Given the description of an element on the screen output the (x, y) to click on. 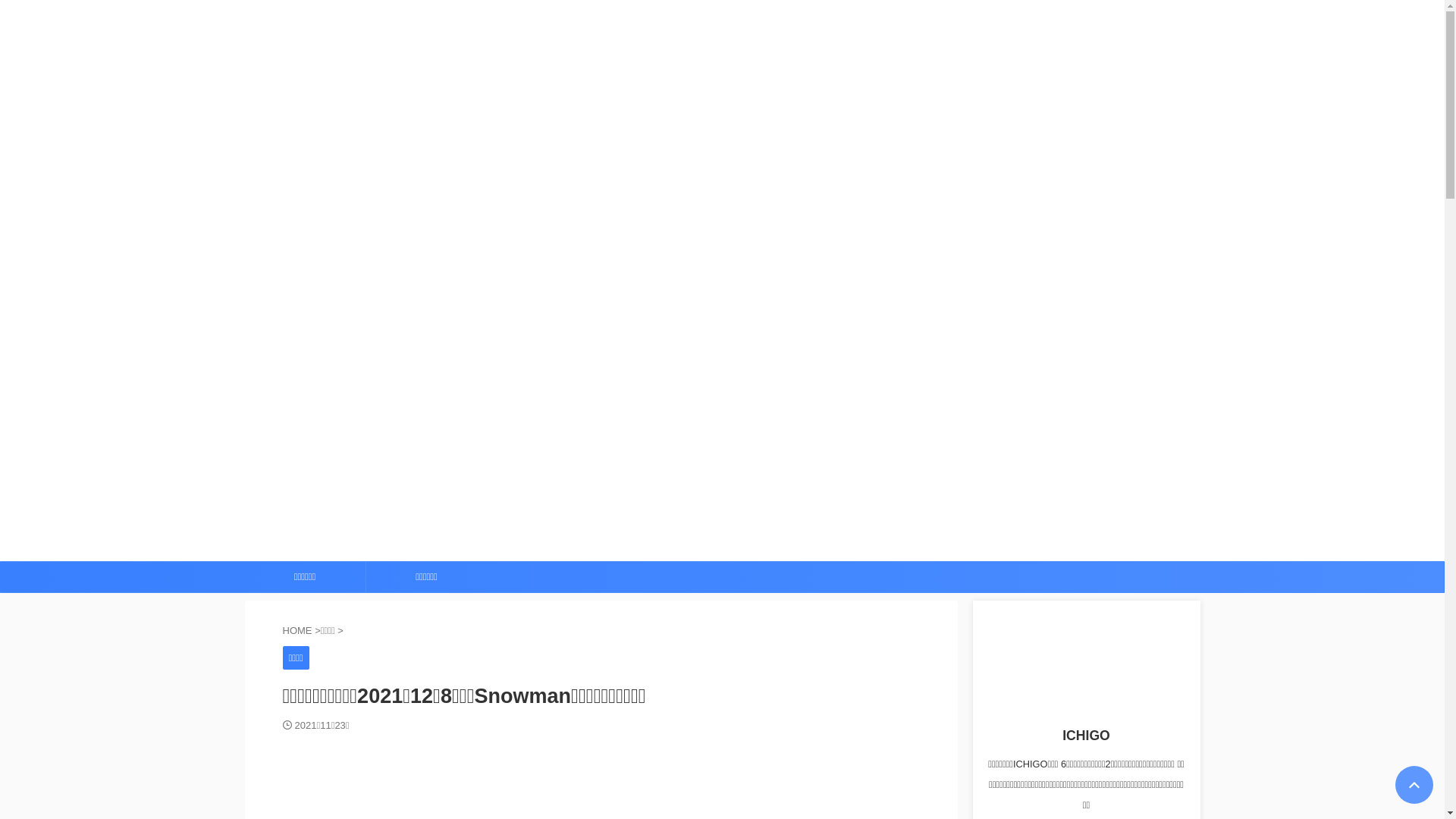
HOME Element type: text (298, 630)
